Given the description of an element on the screen output the (x, y) to click on. 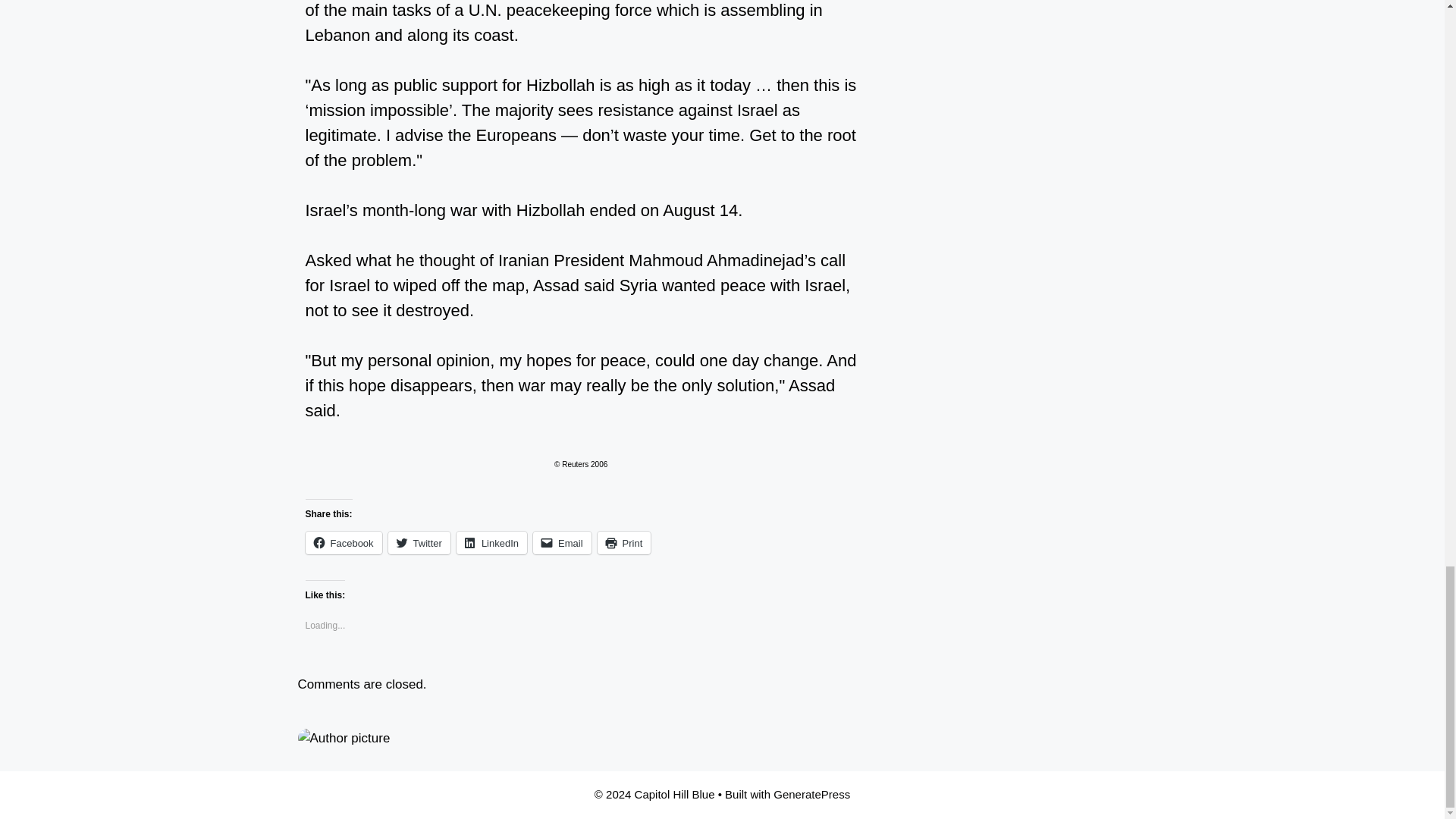
Click to share on Facebook (342, 542)
Click to share on LinkedIn (492, 542)
Click to print (623, 542)
Print (623, 542)
GeneratePress (811, 793)
Facebook (342, 542)
Email (561, 542)
Click to share on Twitter (418, 542)
LinkedIn (492, 542)
Click to email a link to a friend (561, 542)
Twitter (418, 542)
